Given the description of an element on the screen output the (x, y) to click on. 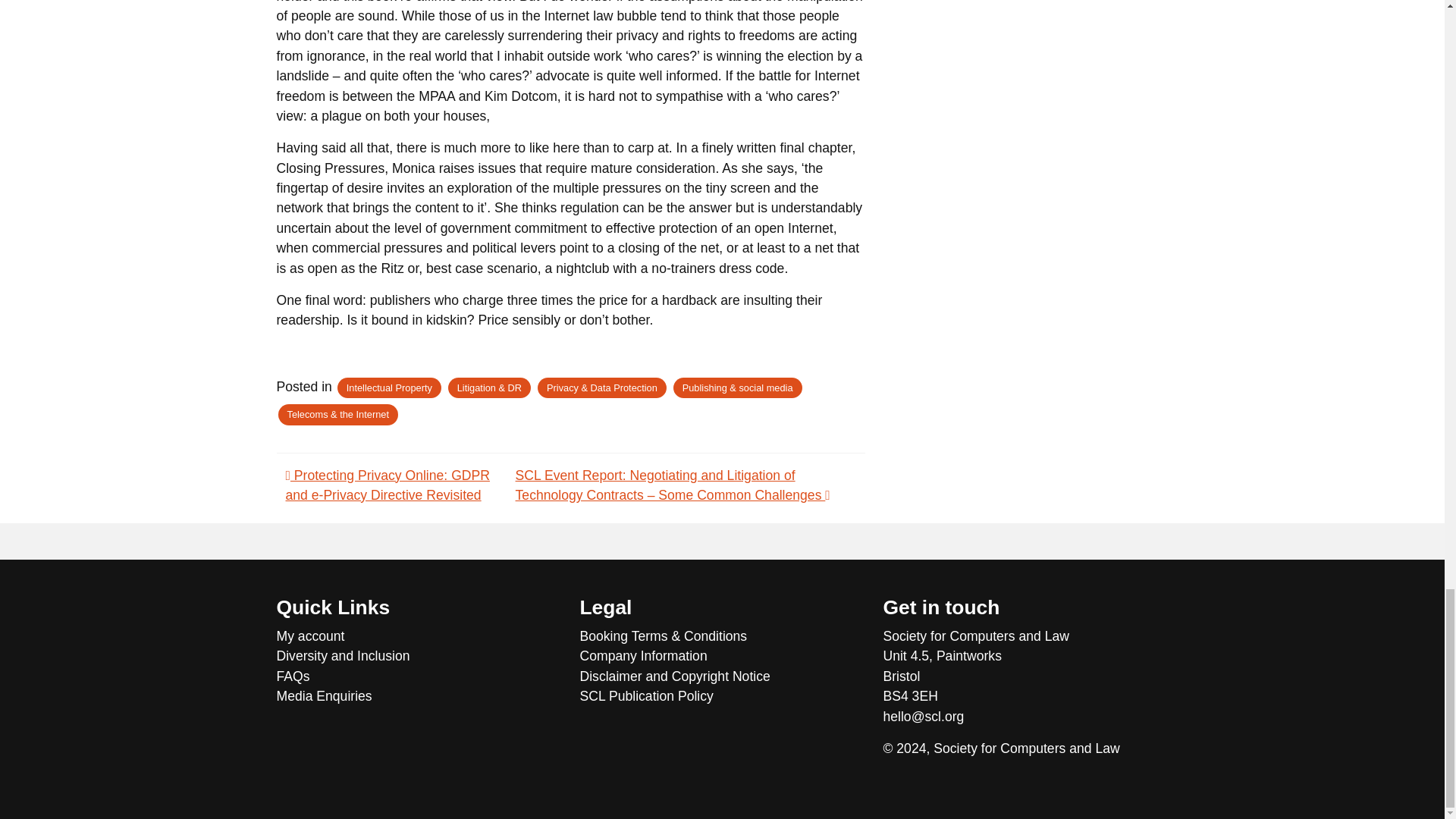
Diversity and Inclusion (418, 655)
FAQs (418, 676)
Diversity and Inclusion (418, 655)
Intellectual Property (389, 387)
My account (418, 636)
My account (418, 636)
Media Enquiries (418, 695)
Company Information (721, 655)
